Given the description of an element on the screen output the (x, y) to click on. 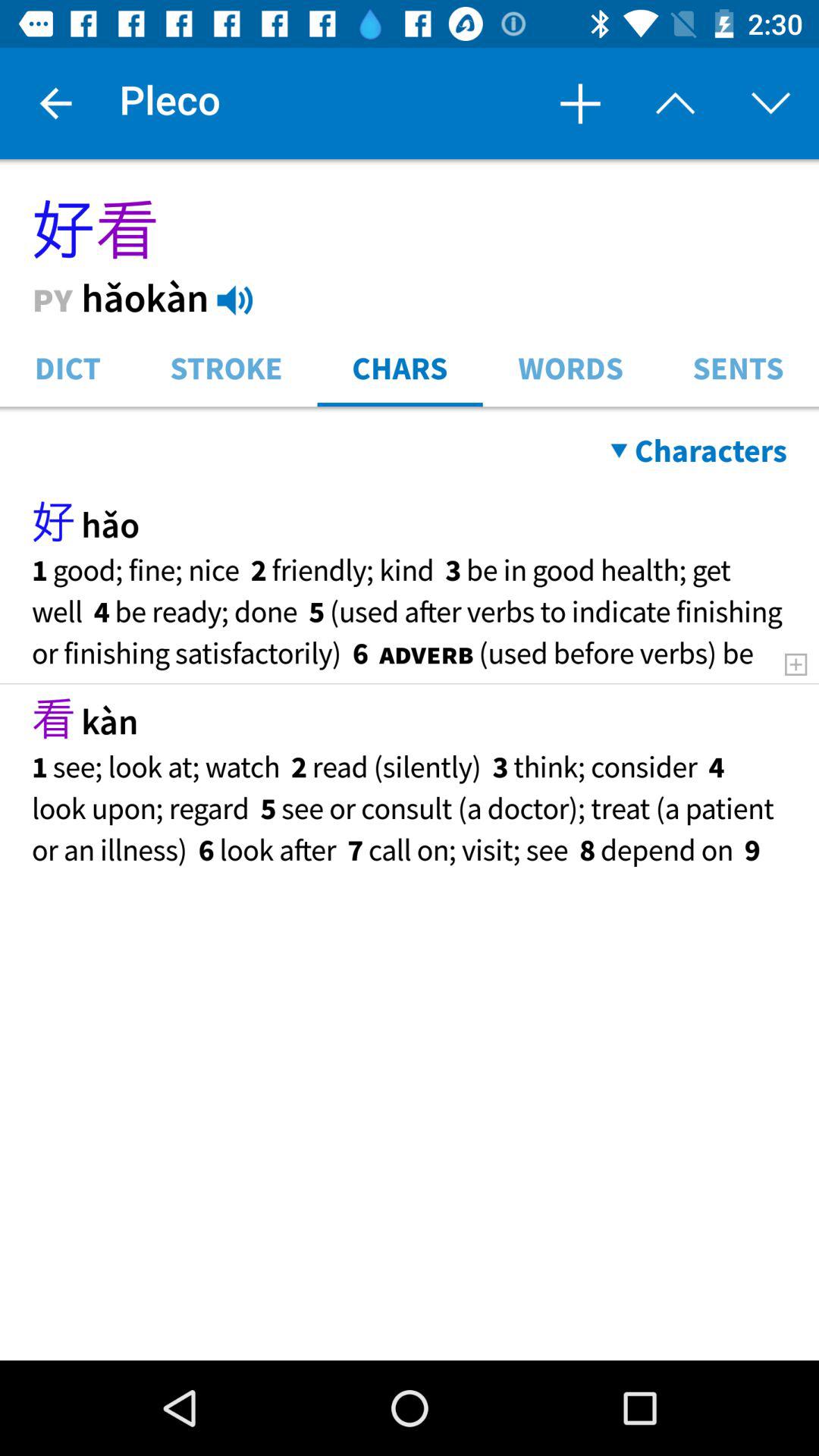
scroll until the stroke icon (226, 366)
